Given the description of an element on the screen output the (x, y) to click on. 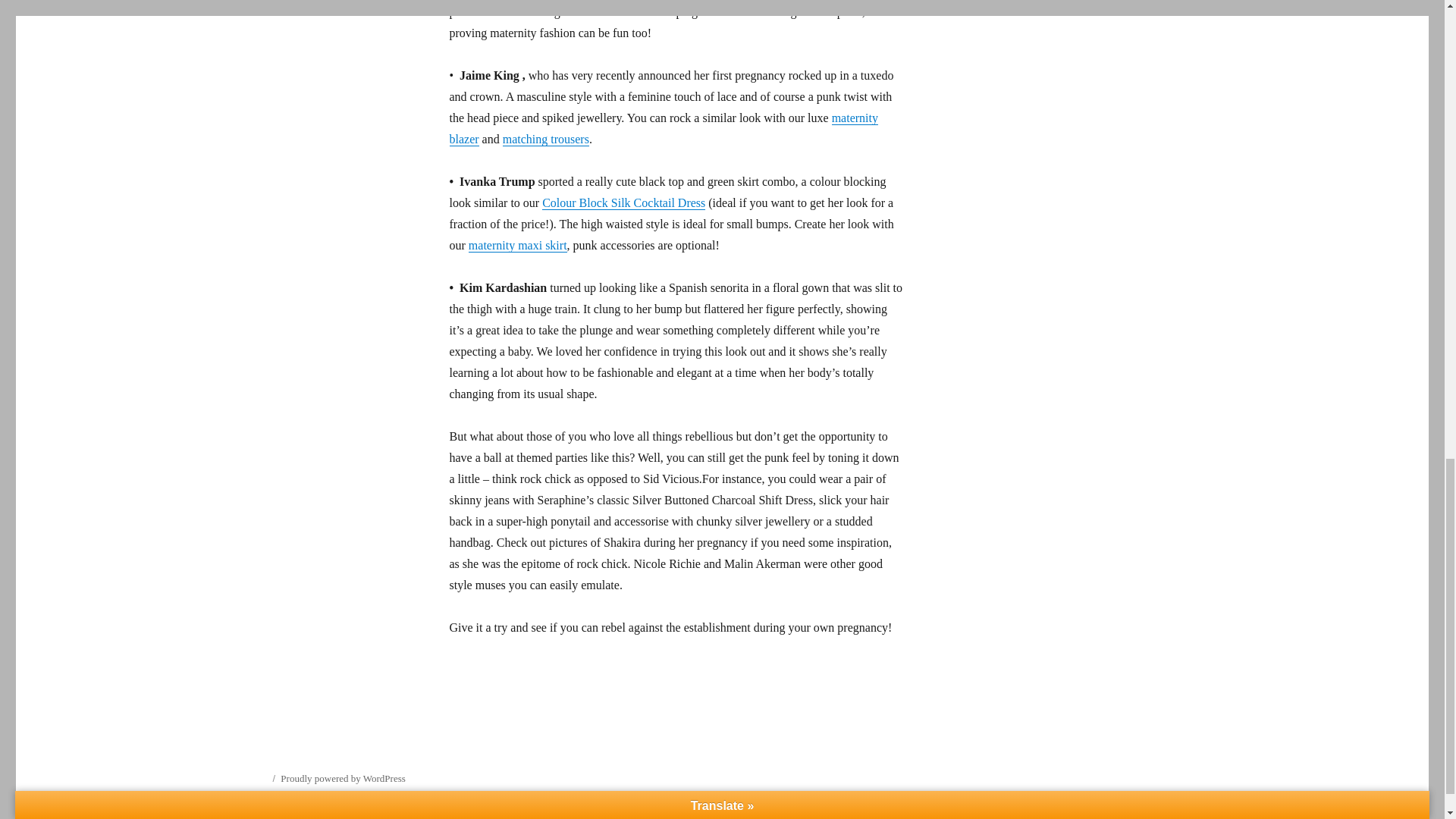
Maternity Suits (662, 128)
Maternity Cocktail Dresses (622, 202)
matching trousers (545, 138)
Maternity Skirts (517, 245)
Maternity Suits (545, 138)
maternity blazer (662, 128)
maternity maxi skirt (517, 245)
Colour Block Silk Cocktail Dress (622, 202)
Proudly powered by WordPress (342, 778)
